Given the description of an element on the screen output the (x, y) to click on. 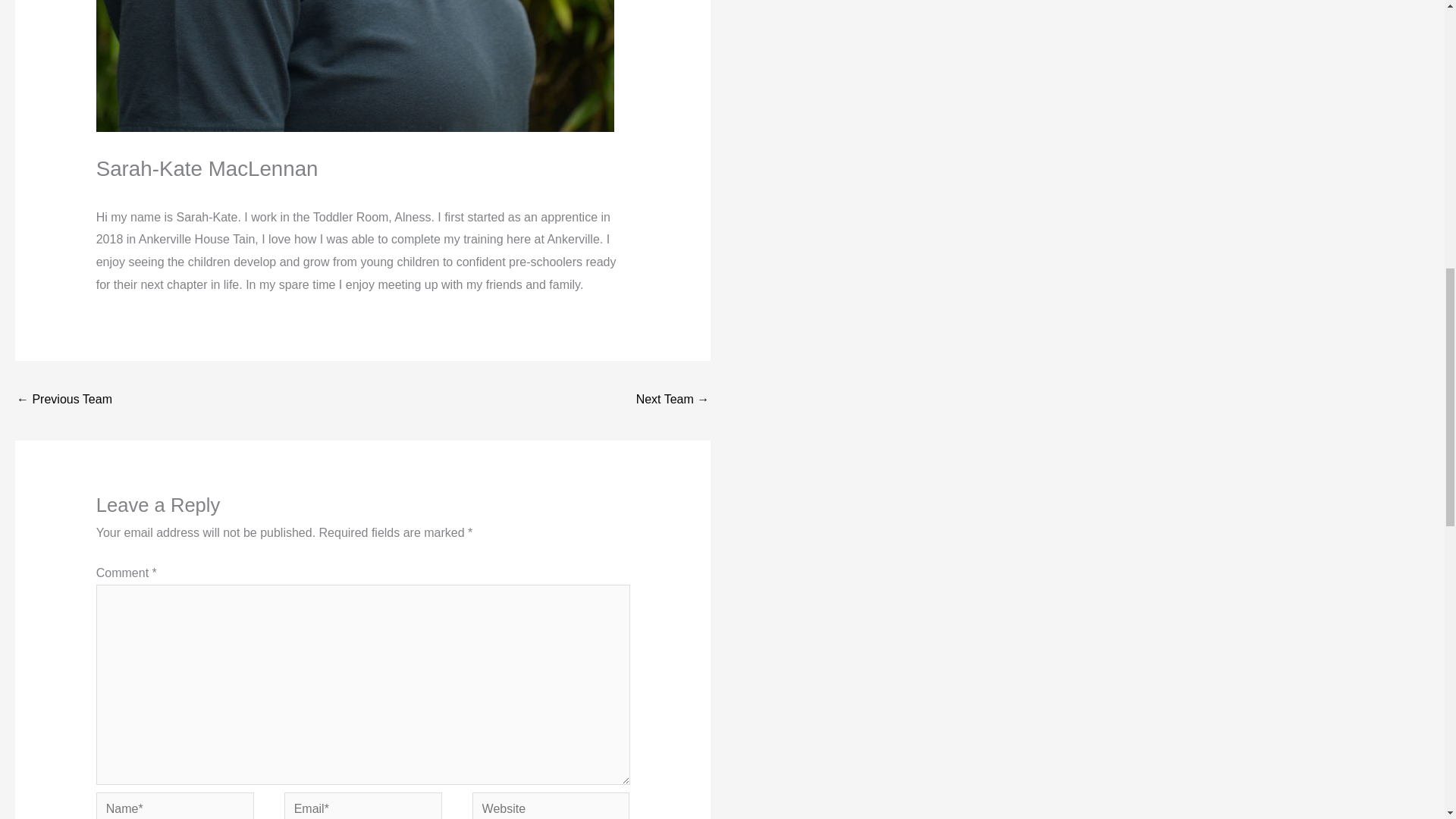
Stacey Macpherson (673, 400)
Shannon George (64, 400)
